Given the description of an element on the screen output the (x, y) to click on. 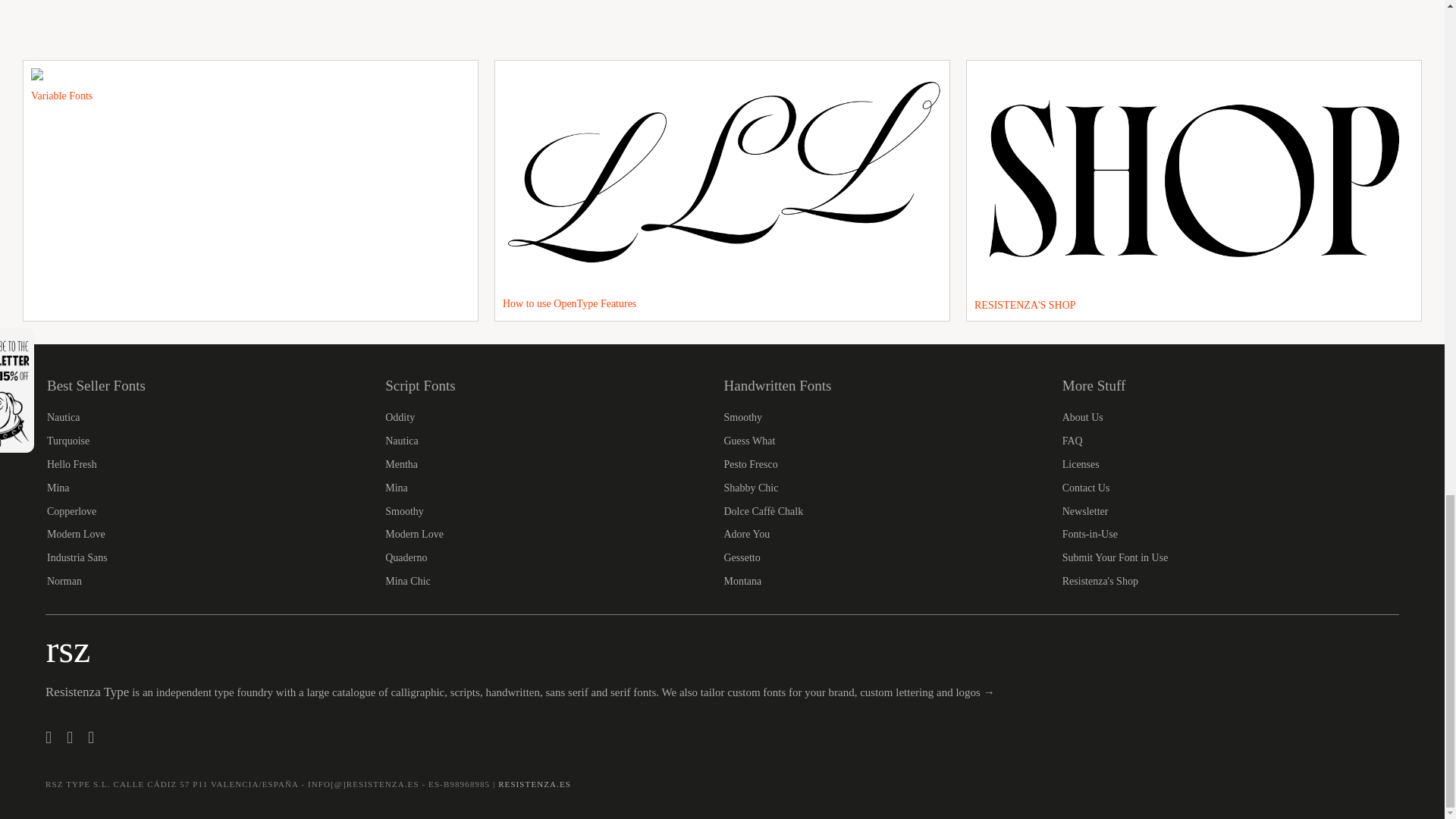
Norman (63, 581)
How to use OpenType Features (722, 190)
Smoothy (404, 511)
Nautica (63, 417)
Variable Fonts (251, 190)
Nautica (402, 440)
RESISTENZA'S SHOP (1194, 190)
Modern Love (75, 533)
Turquoise (67, 440)
Industria Sans (76, 557)
